Given the description of an element on the screen output the (x, y) to click on. 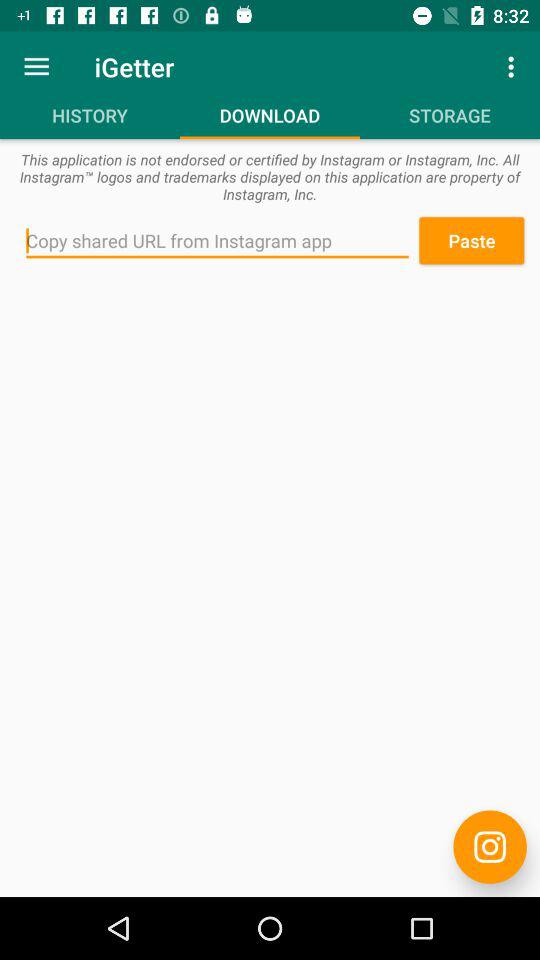
turn off the item at the bottom right corner (489, 846)
